Given the description of an element on the screen output the (x, y) to click on. 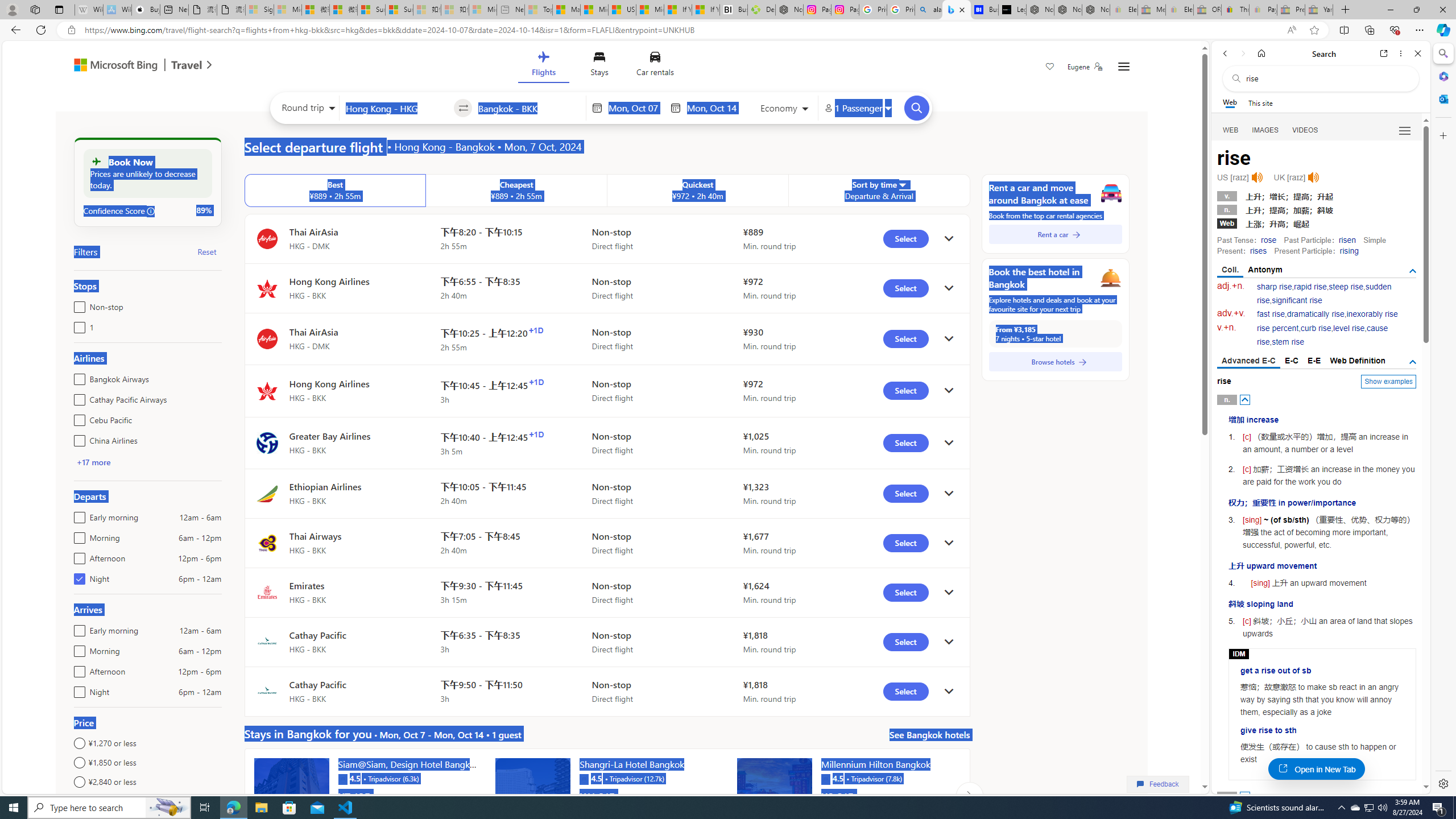
Going to? (528, 107)
Antonym (1265, 269)
Stays (598, 65)
AutomationID: tgdef (1412, 362)
risen (1347, 239)
Reset (206, 251)
fast rise (1270, 313)
dramatically rise (1315, 313)
